Given the description of an element on the screen output the (x, y) to click on. 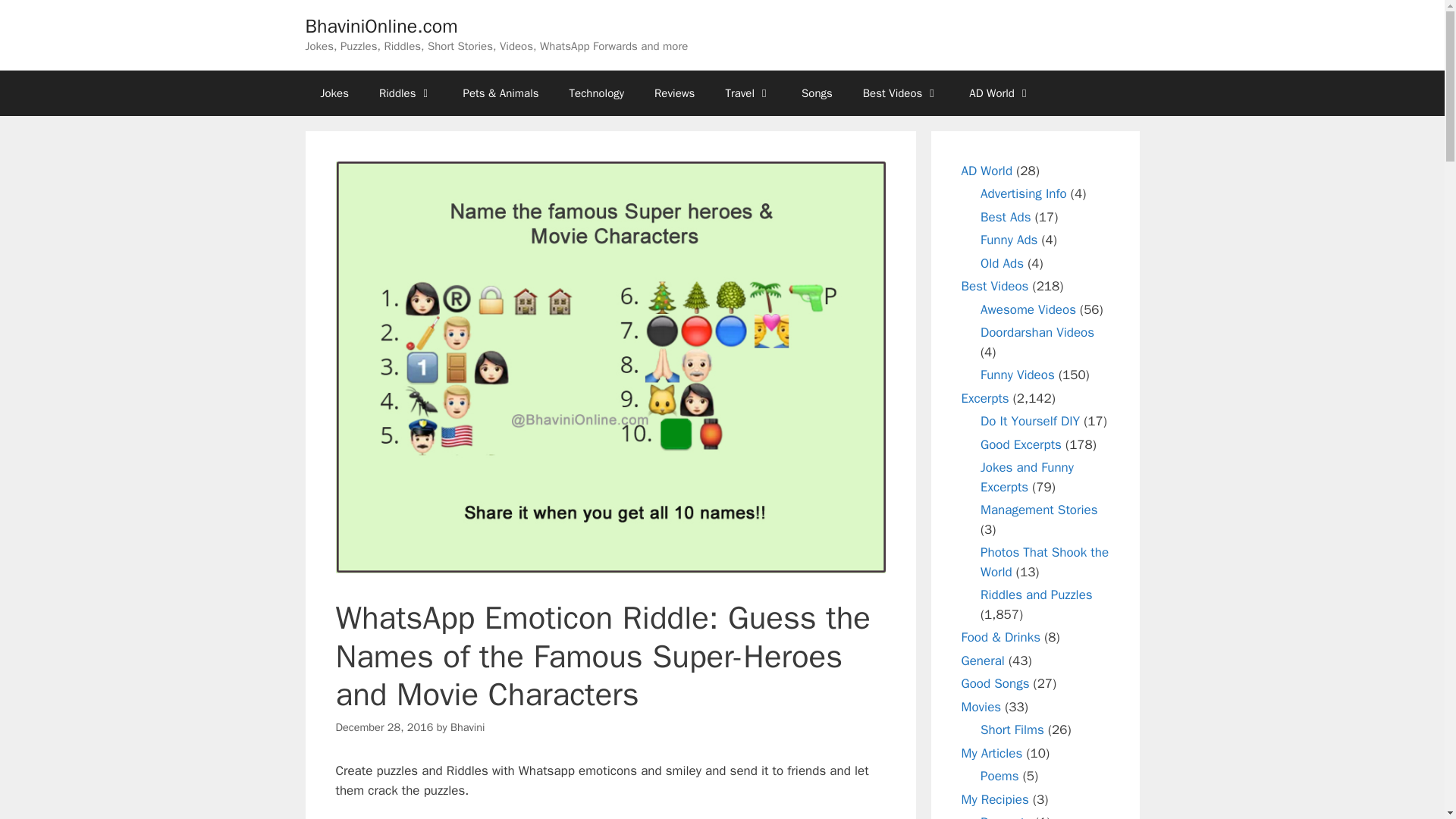
Technology (597, 92)
AD World (999, 92)
Bhavini (466, 726)
Songs (816, 92)
Riddles (406, 92)
Reviews (674, 92)
View all posts by Bhavini (466, 726)
BhaviniOnline.com (380, 25)
Travel (748, 92)
Best Videos (901, 92)
